Given the description of an element on the screen output the (x, y) to click on. 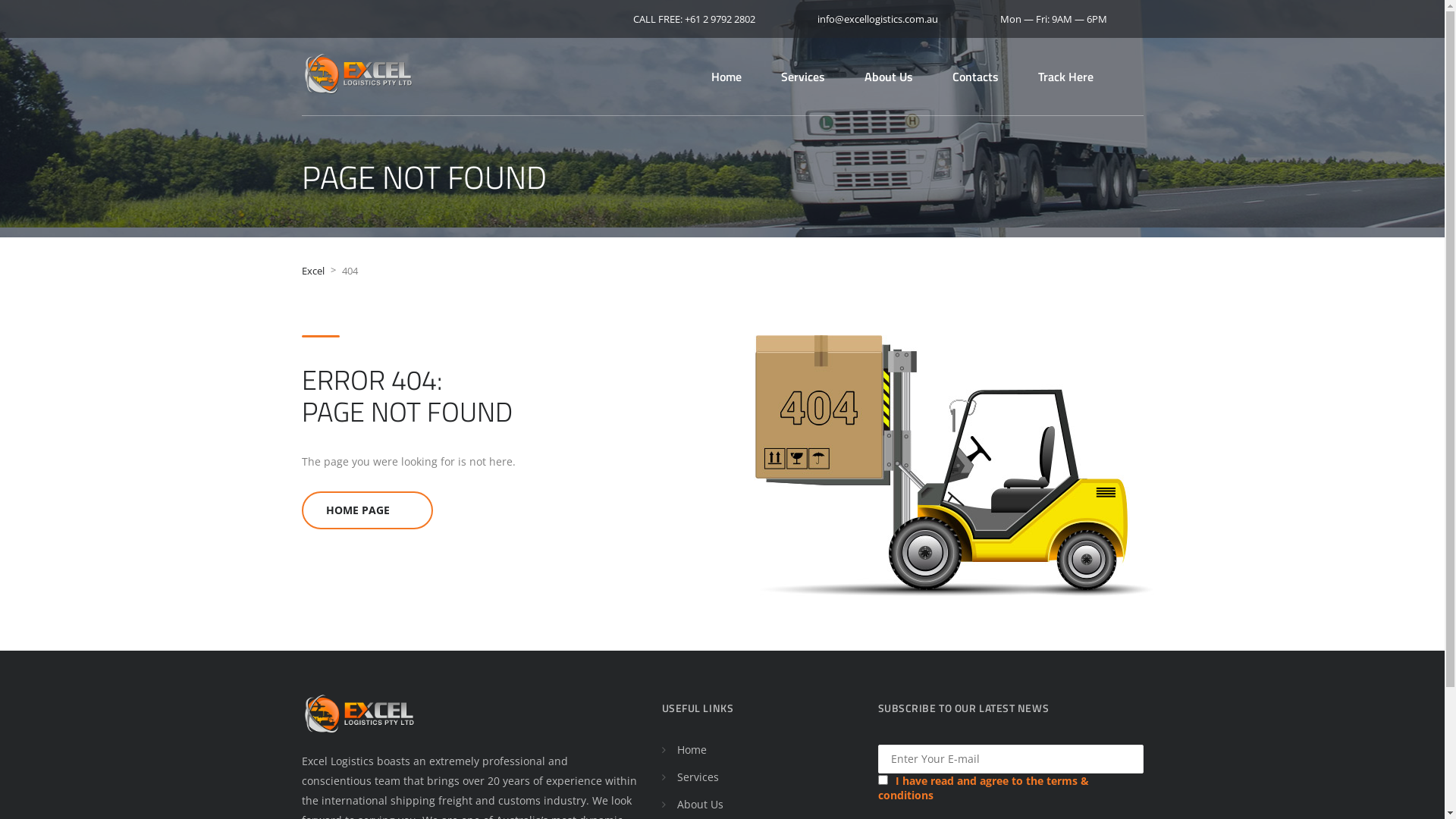
info@excellogistics.com.au Element type: text (873, 18)
Home Element type: text (726, 76)
About Us Element type: text (699, 804)
Track Here Element type: text (1064, 76)
Services Element type: text (803, 76)
HOME PAGE Element type: text (367, 510)
Excel Element type: text (312, 270)
Contacts Element type: text (975, 76)
Services Element type: text (697, 776)
About Us Element type: text (888, 76)
Home Element type: text (691, 749)
I have read and agree to the terms & conditions Element type: text (983, 787)
